Given the description of an element on the screen output the (x, y) to click on. 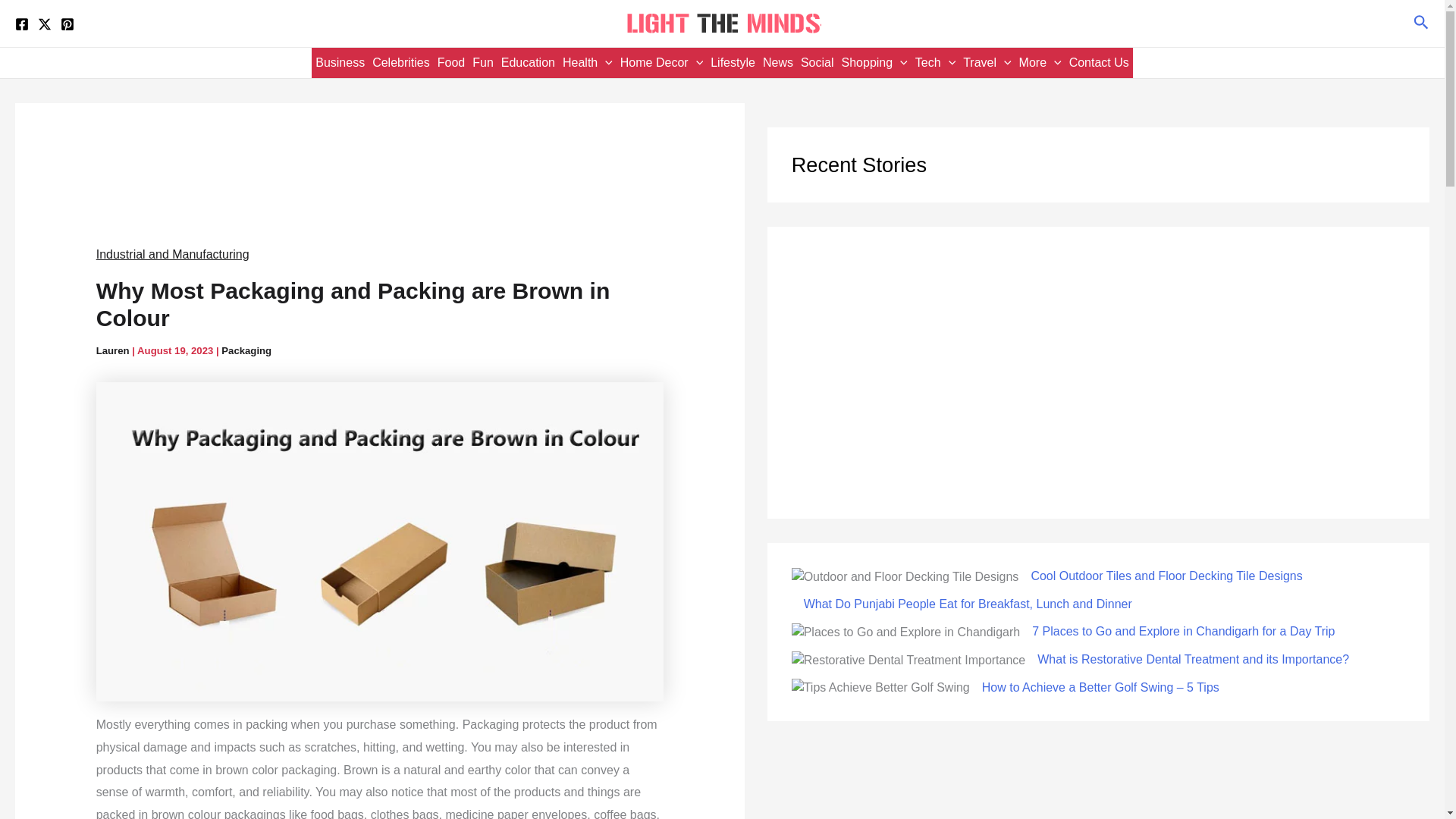
Fun (482, 62)
Shopping (874, 62)
News (777, 62)
Business (339, 62)
Food (450, 62)
Social (817, 62)
View all posts by Lauren (114, 350)
Health (587, 62)
Celebrities (400, 62)
Tech (935, 62)
